Given the description of an element on the screen output the (x, y) to click on. 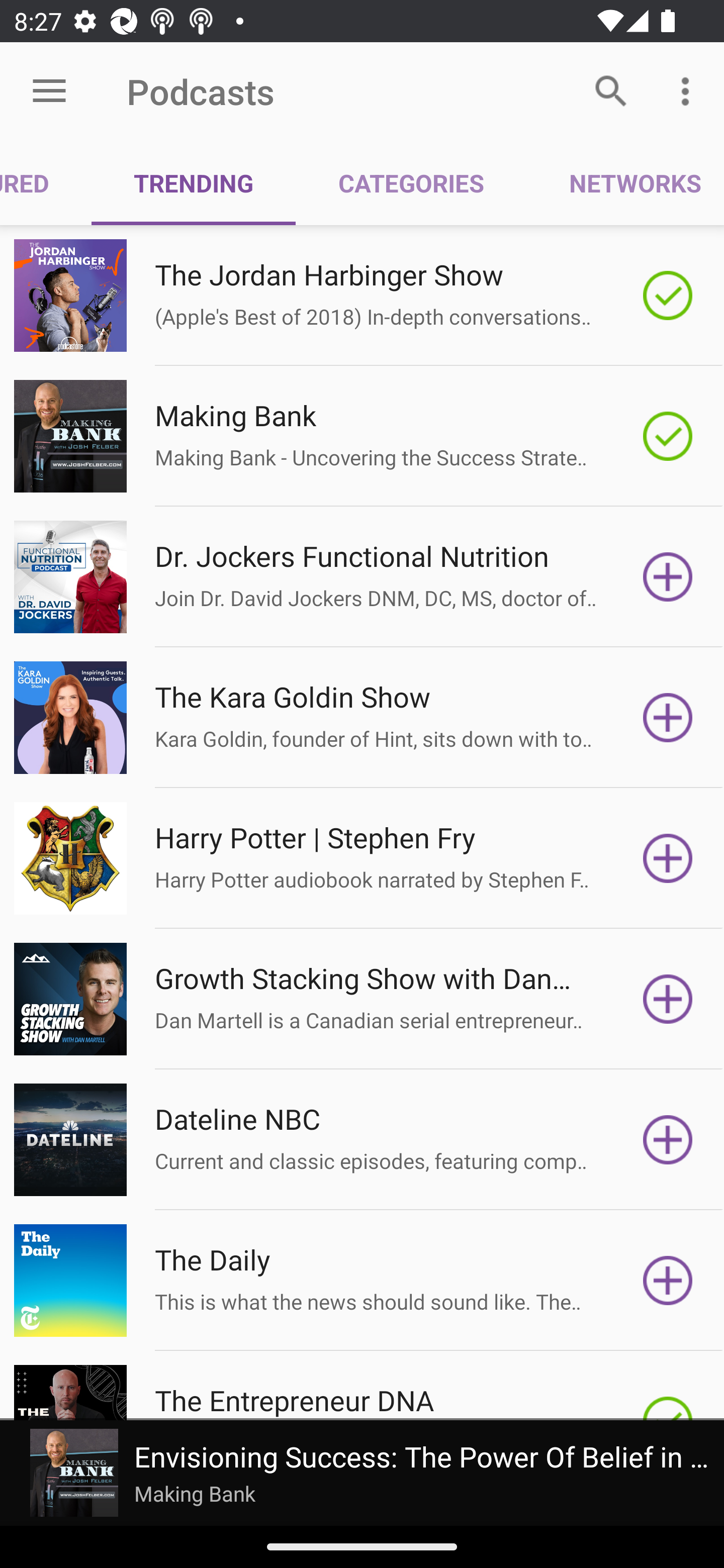
Open menu (49, 91)
Search (611, 90)
More options (688, 90)
TRENDING (193, 183)
CATEGORIES (410, 183)
NETWORKS (625, 183)
Subscribed (667, 295)
Subscribed (667, 435)
Subscribe (667, 576)
Subscribe (667, 717)
Subscribe (667, 858)
Subscribe (667, 998)
Subscribe (667, 1139)
Subscribe (667, 1280)
